Given the description of an element on the screen output the (x, y) to click on. 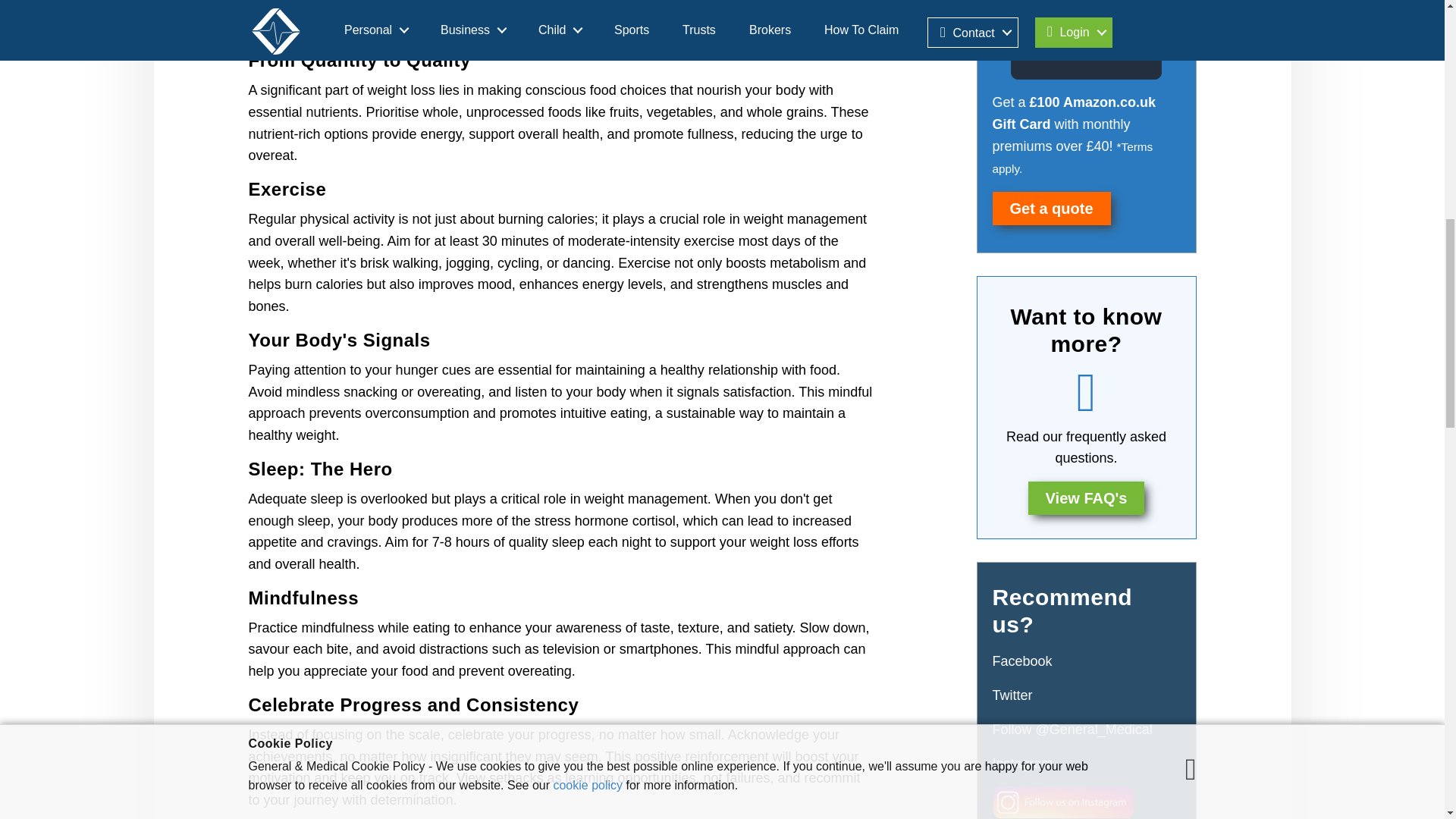
Get A Health Insurance Quote (1050, 208)
Gift (1085, 31)
